Given the description of an element on the screen output the (x, y) to click on. 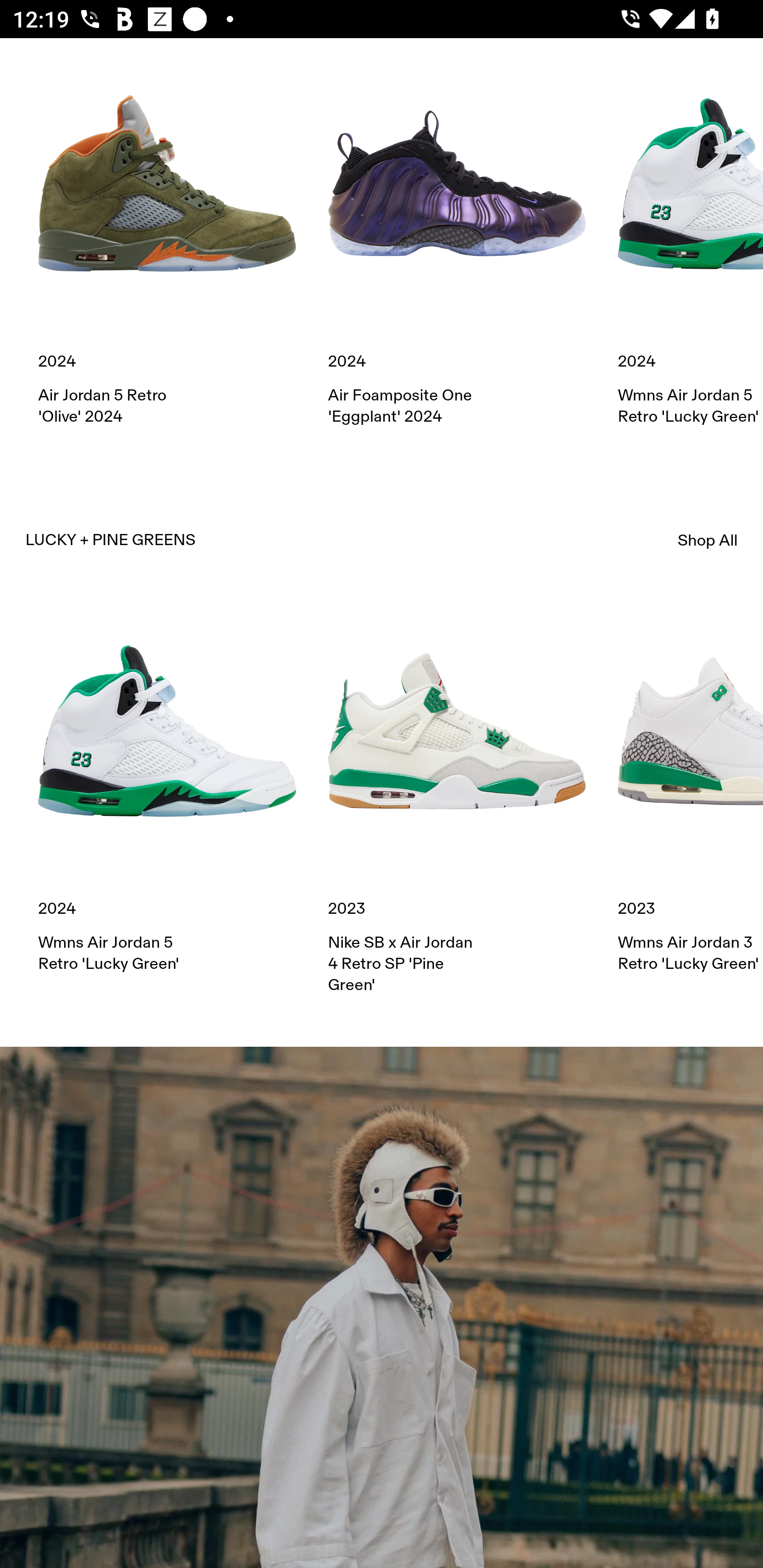
2024 Air Jordan 5 Retro 'Olive' 2024 (167, 241)
2024 Air Foamposite One 'Eggplant' 2024 (456, 241)
2024 Wmns Air Jordan 5 Retro 'Lucky Green' (690, 241)
Shop All (707, 539)
2024 Wmns Air Jordan 5 Retro 'Lucky Green' (167, 788)
2023 Nike SB x Air Jordan 4 Retro SP 'Pine Green' (456, 798)
2023 Wmns Air Jordan 3 Retro 'Lucky Green' (690, 788)
